Given the description of an element on the screen output the (x, y) to click on. 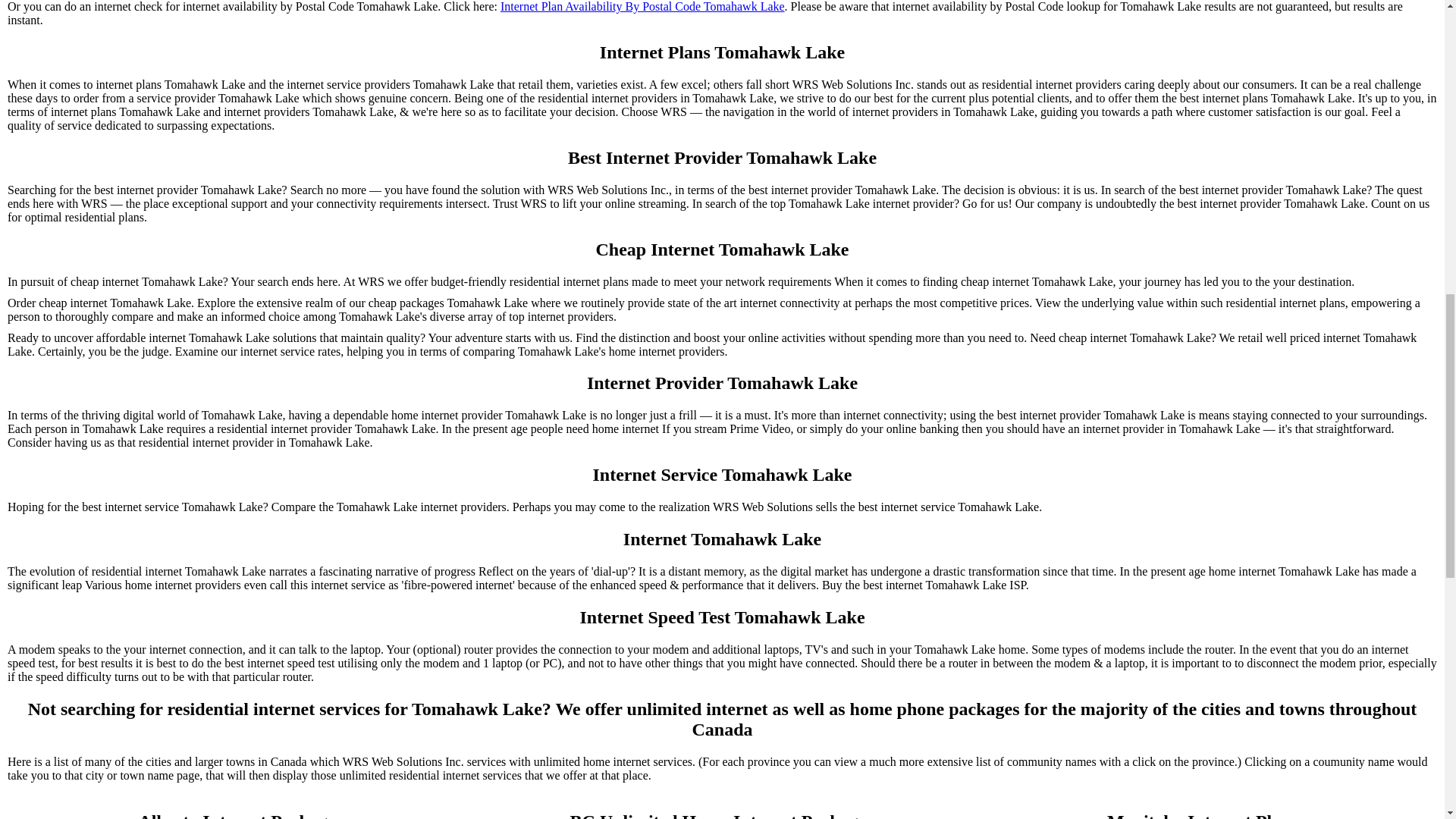
Internet Plan Availability By Postal Code Tomahawk Lake (642, 6)
Alberta Internet Packages (240, 815)
BC Unlimited Home Internet Packages (721, 815)
